Given the description of an element on the screen output the (x, y) to click on. 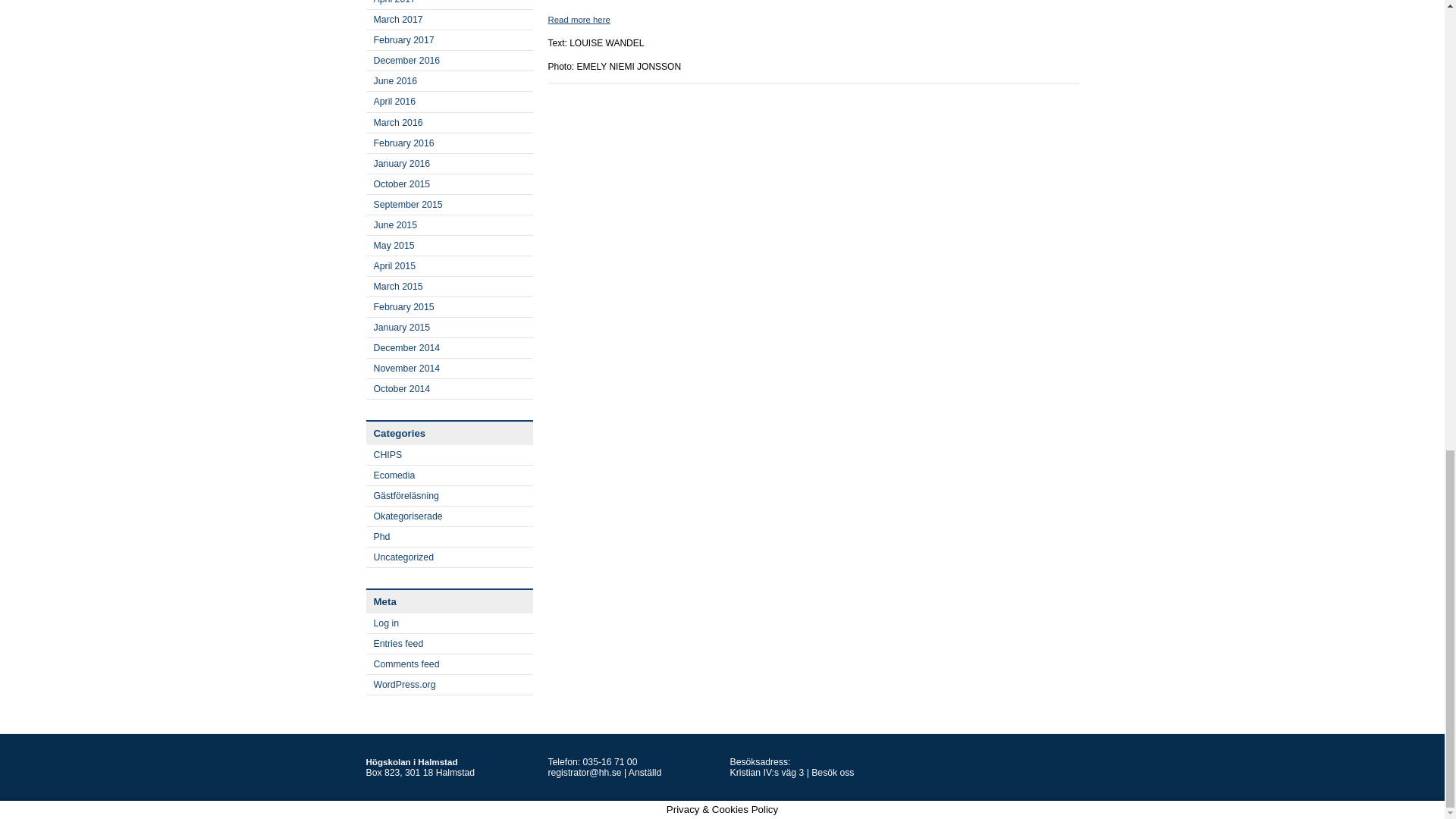
Read more here (578, 19)
